Given the description of an element on the screen output the (x, y) to click on. 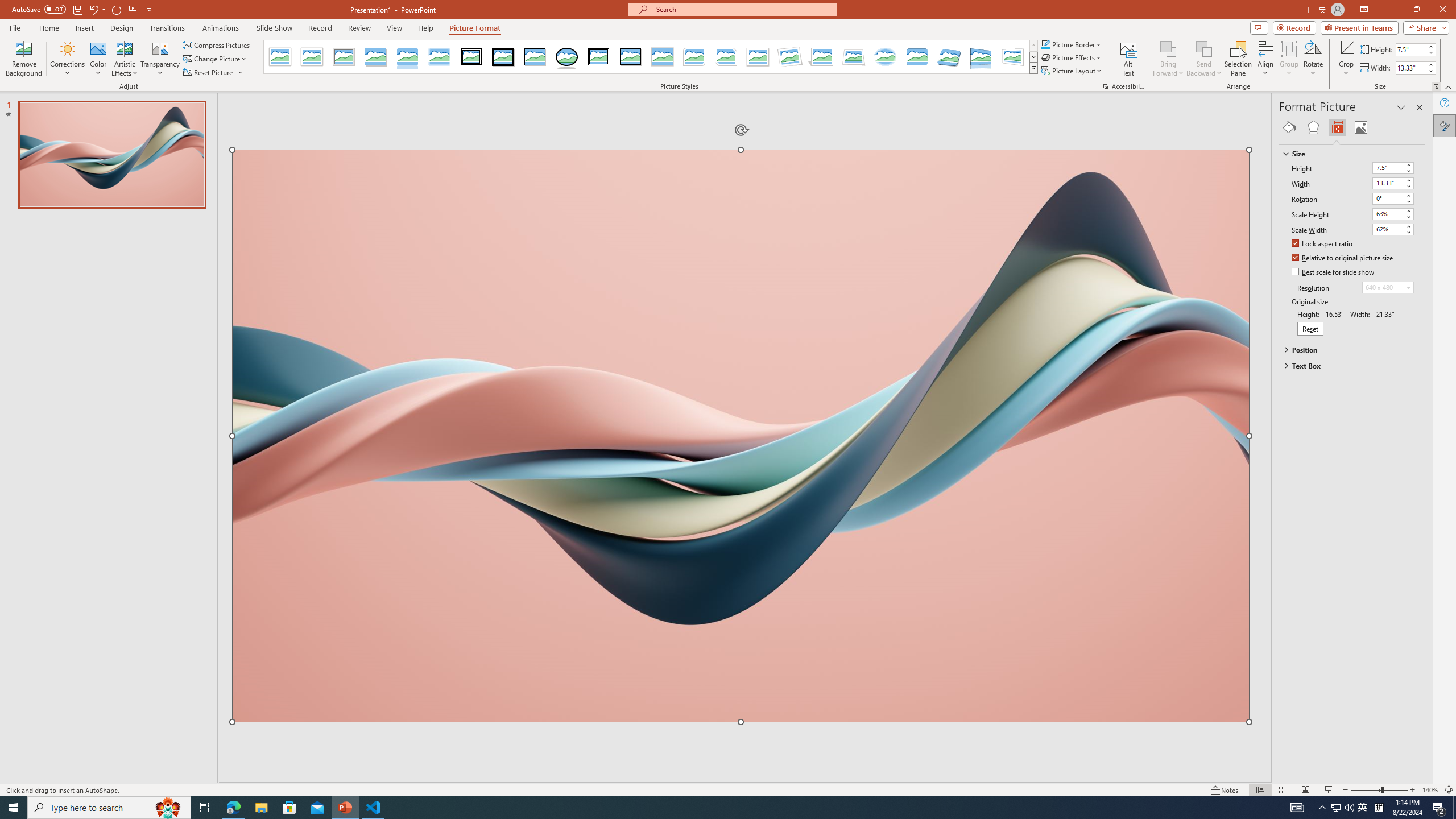
Moderate Frame, Black (630, 56)
Normal (1260, 790)
Wavy 3D art (740, 435)
Best scale for slide show (1333, 272)
Restore Down (1416, 9)
Review (359, 28)
Undo (92, 9)
Picture Format (475, 28)
Send Backward (1204, 58)
Row Down (1033, 56)
Shape Height (1410, 49)
Zoom (1379, 790)
Slide (111, 154)
